Given the description of an element on the screen output the (x, y) to click on. 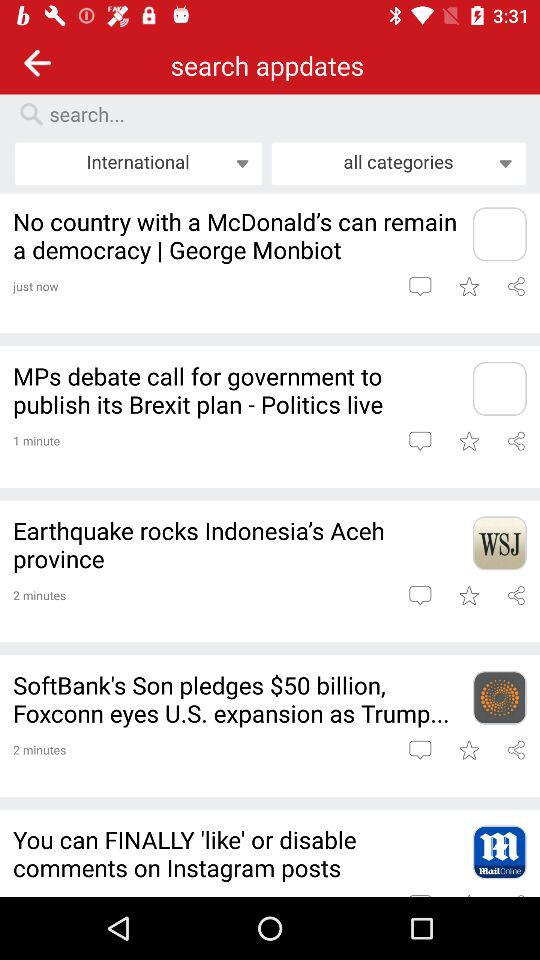
launch the item to the left of all categories icon (138, 163)
